Given the description of an element on the screen output the (x, y) to click on. 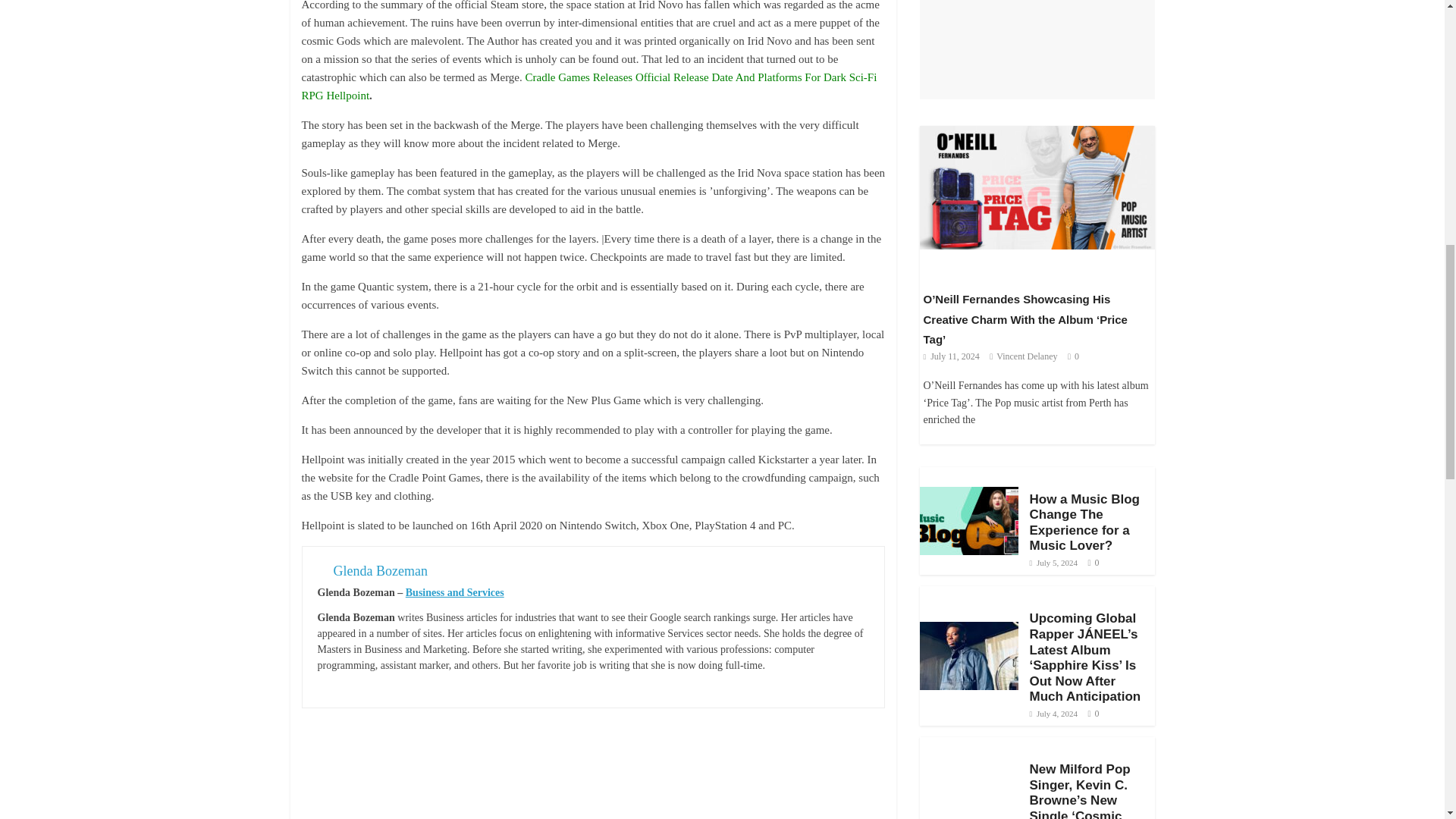
Business and Services (454, 592)
Glenda Bozeman (380, 570)
